Given the description of an element on the screen output the (x, y) to click on. 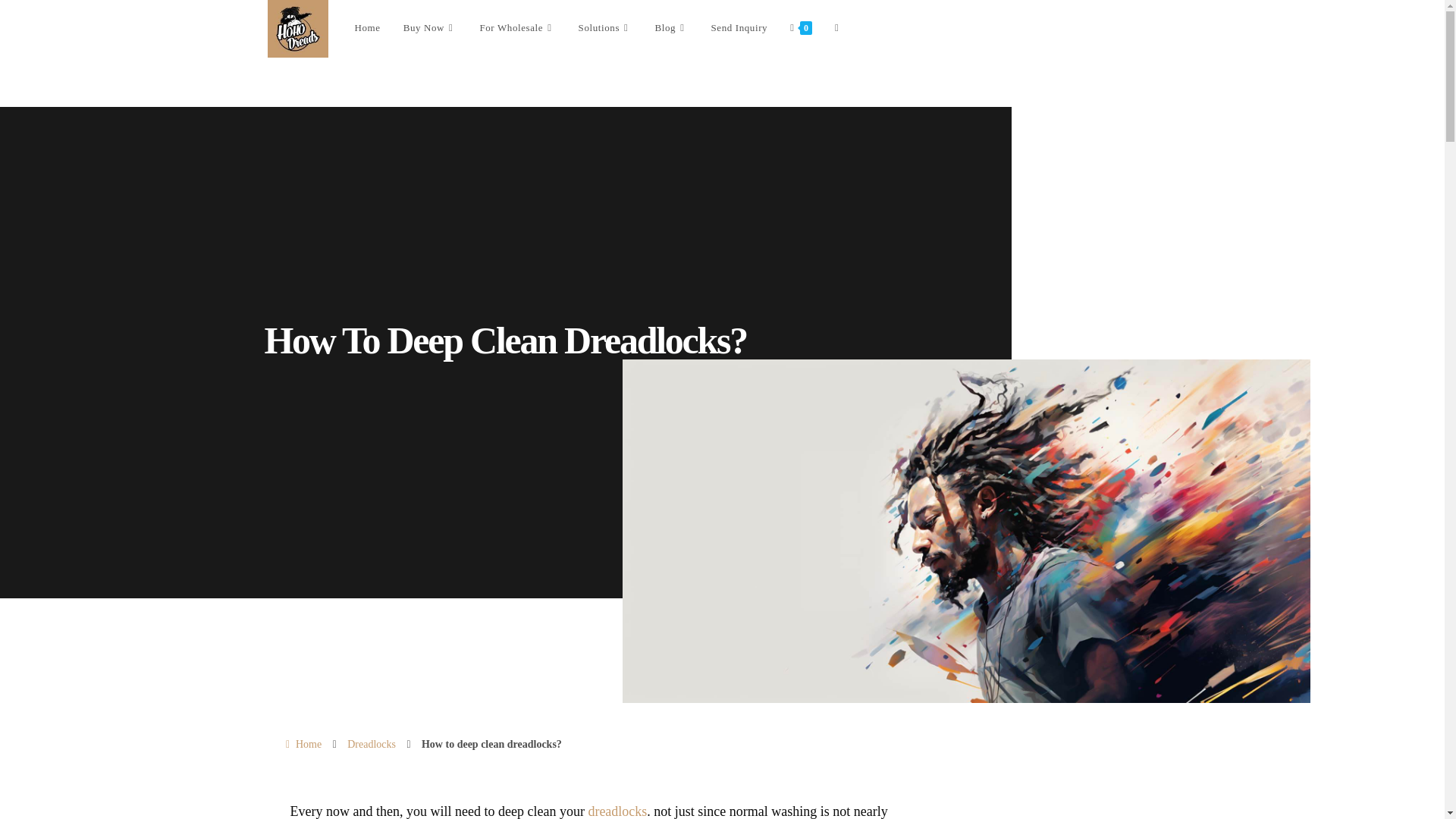
How to deep clean dreadlocks? (492, 743)
Home (301, 743)
Send Inquiry (738, 28)
Dreadlocks (371, 743)
Solutions (605, 28)
dreadlocks (617, 811)
Home (301, 743)
Blog (670, 28)
Buy Now (429, 28)
For Wholesale (516, 28)
